Given the description of an element on the screen output the (x, y) to click on. 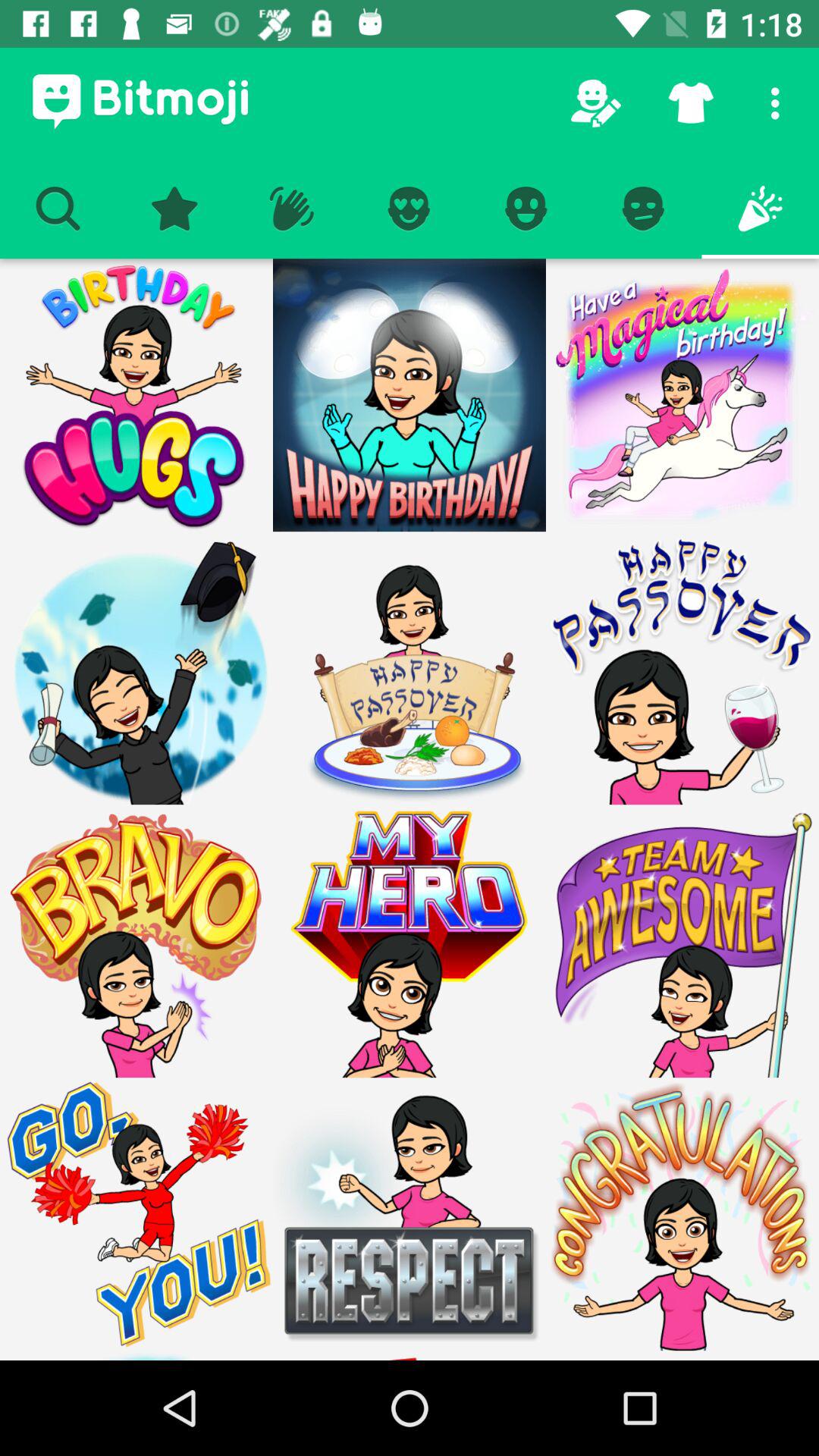
check birthday hugs emoji (136, 394)
